Given the description of an element on the screen output the (x, y) to click on. 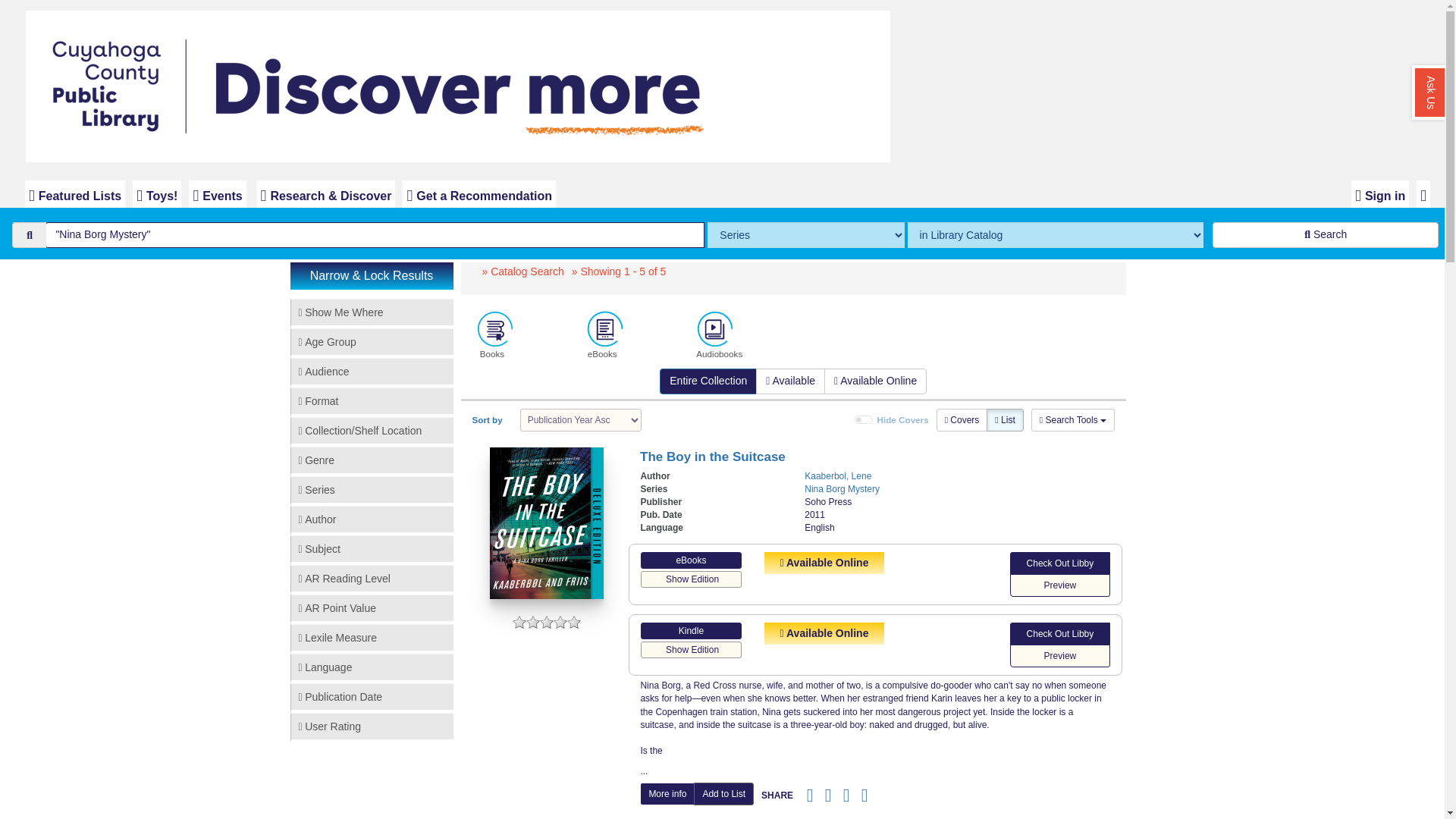
Sign in (1380, 194)
Events (217, 194)
Featured Lists (74, 194)
Toys! (156, 194)
 Search (1325, 234)
on (863, 420)
Login (1380, 194)
"Nina Borg Mystery" (375, 234)
Get a Recommendation (479, 194)
